Given the description of an element on the screen output the (x, y) to click on. 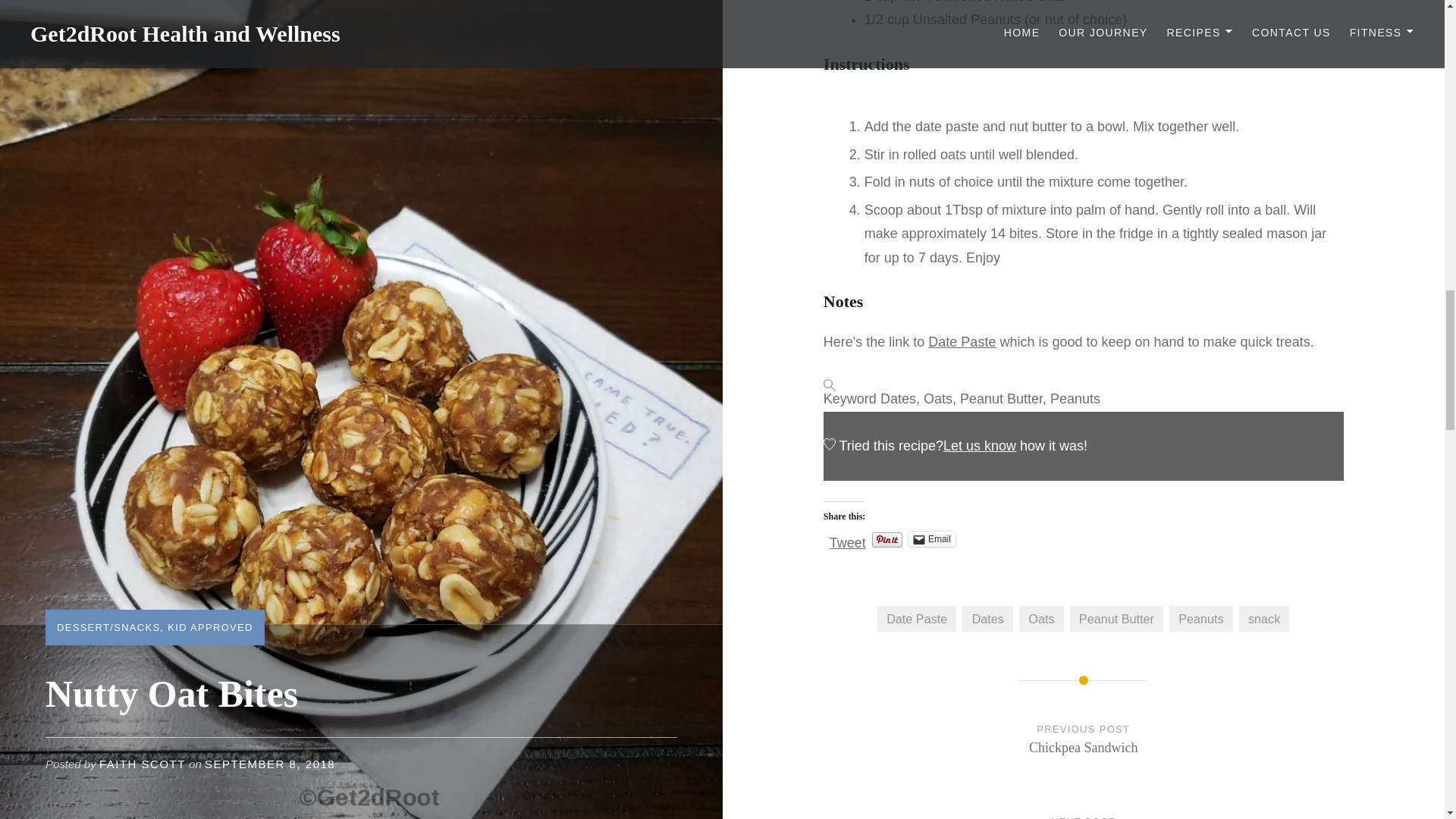
Date Paste (961, 341)
Oats (1040, 618)
Tweet (847, 538)
Date Paste (916, 618)
Let us know (979, 445)
Email (931, 539)
Click to email a link to a friend (931, 539)
Dates (987, 618)
